Given the description of an element on the screen output the (x, y) to click on. 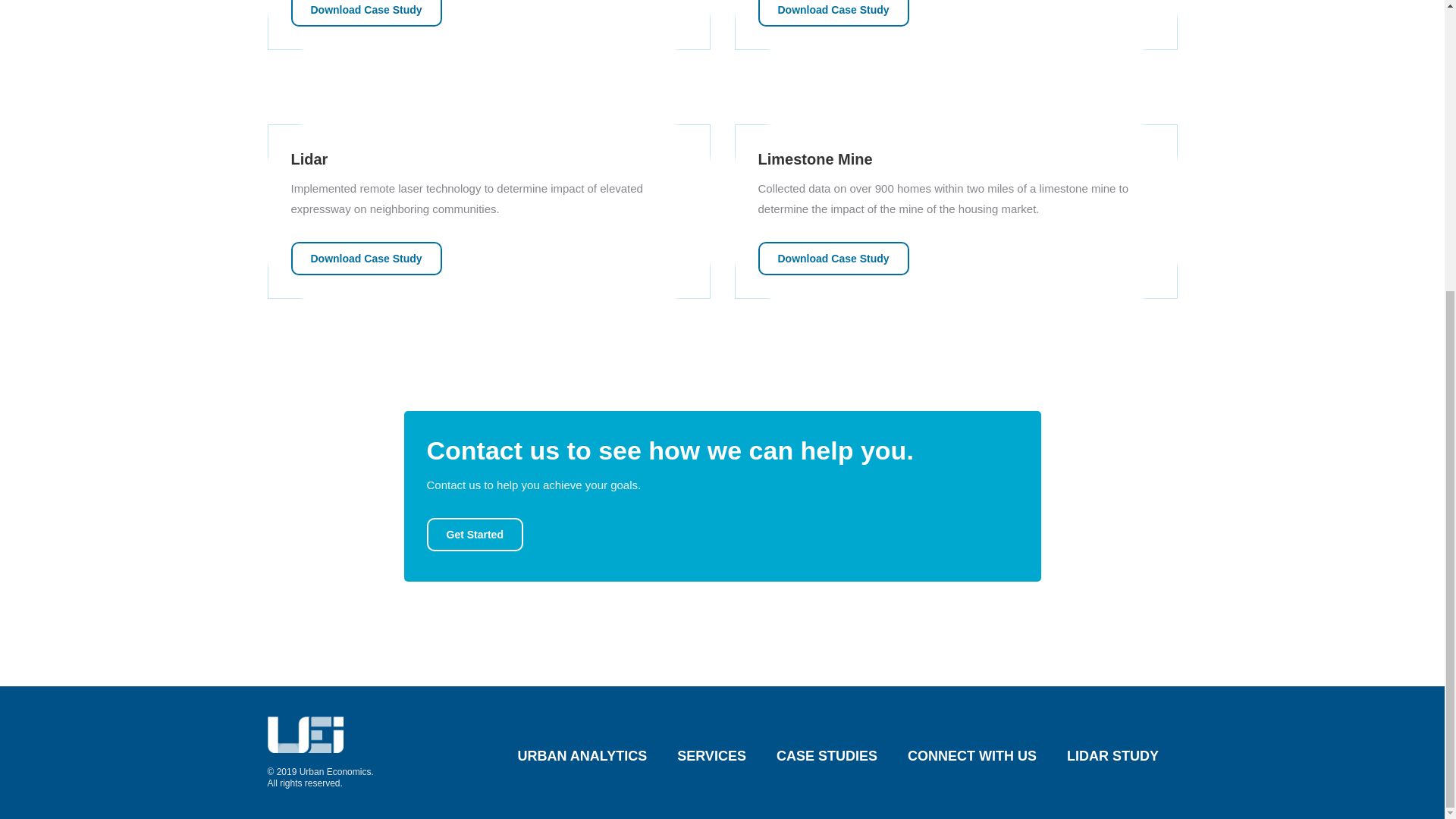
URBAN ANALYTICS (582, 756)
SERVICES (711, 756)
CONNECT WITH US (972, 756)
Download Case Study (833, 13)
LIDAR STUDY (1112, 756)
CASE STUDIES (826, 756)
Get Started (474, 534)
Download Case Study (366, 258)
Download Case Study (833, 258)
Download Case Study (366, 13)
